Given the description of an element on the screen output the (x, y) to click on. 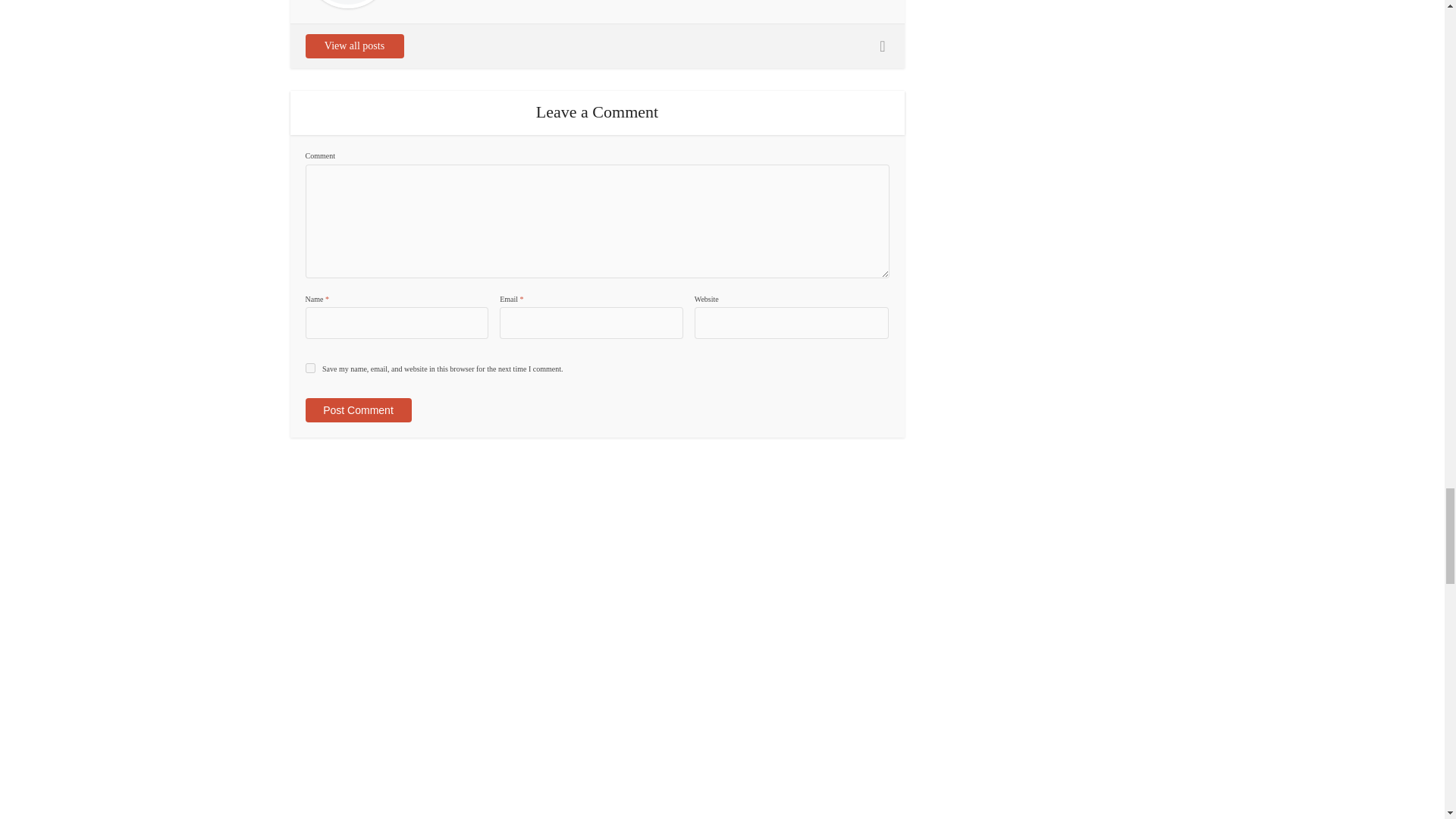
yes (309, 368)
Post Comment (357, 410)
